Given the description of an element on the screen output the (x, y) to click on. 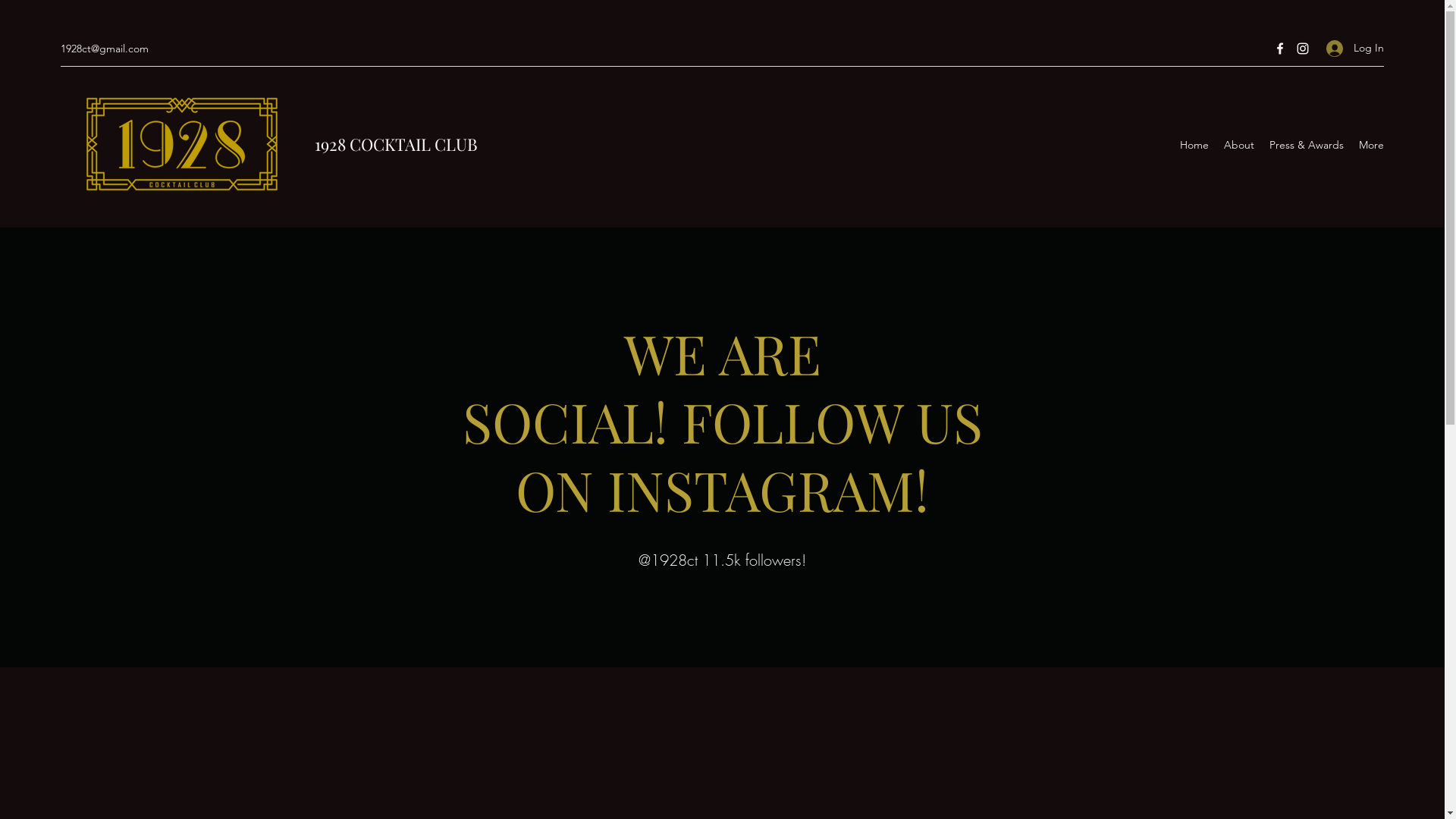
Log In Element type: text (1349, 48)
Home Element type: text (1194, 144)
About Element type: text (1238, 144)
1928ct@gmail.com Element type: text (104, 48)
Press & Awards Element type: text (1306, 144)
